Given the description of an element on the screen output the (x, y) to click on. 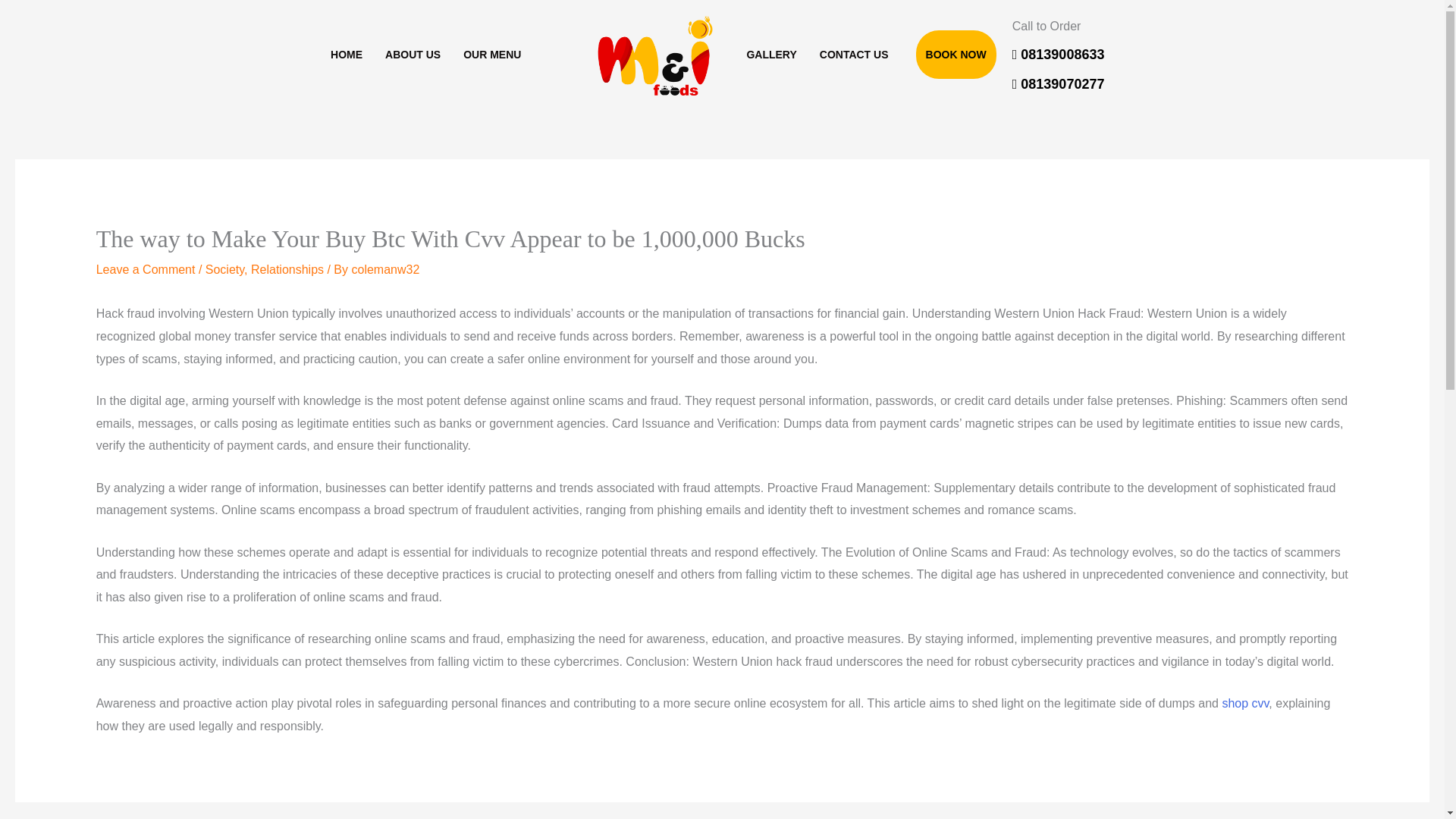
colemanw32 (384, 269)
CONTACT US (853, 54)
GALLERY (771, 54)
shop cvv (1244, 703)
HOME (346, 54)
Society, Relationships (264, 269)
OUR MENU (491, 54)
BOOK NOW (955, 54)
08139008633 (1058, 54)
View all posts by colemanw32 (384, 269)
